Given the description of an element on the screen output the (x, y) to click on. 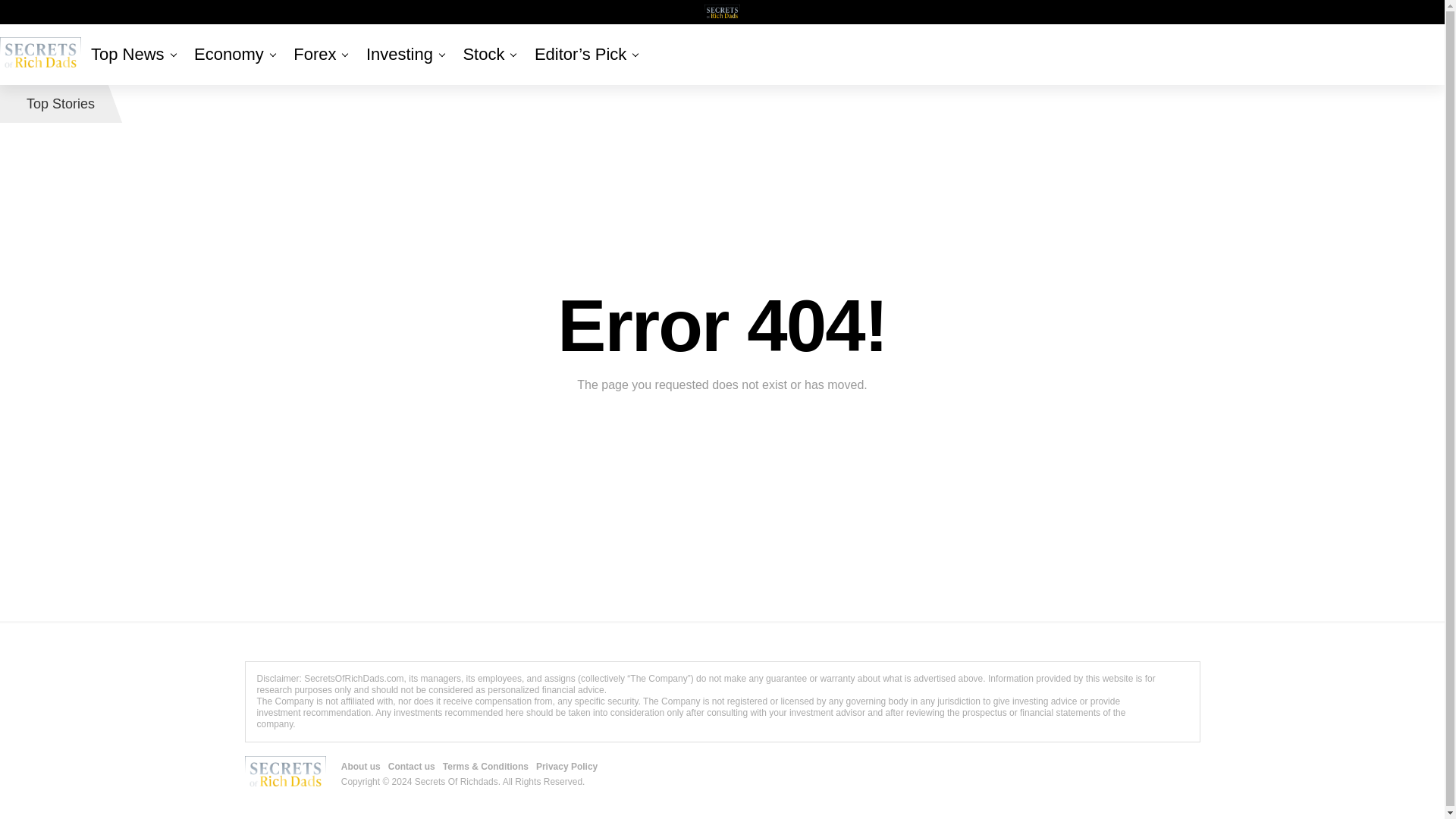
Investing (399, 54)
Privacy Policy (187, 33)
Economy (228, 54)
Contact Us (77, 33)
Stock (483, 54)
Top News (130, 54)
About Us (40, 38)
Forex (314, 54)
